Given the description of an element on the screen output the (x, y) to click on. 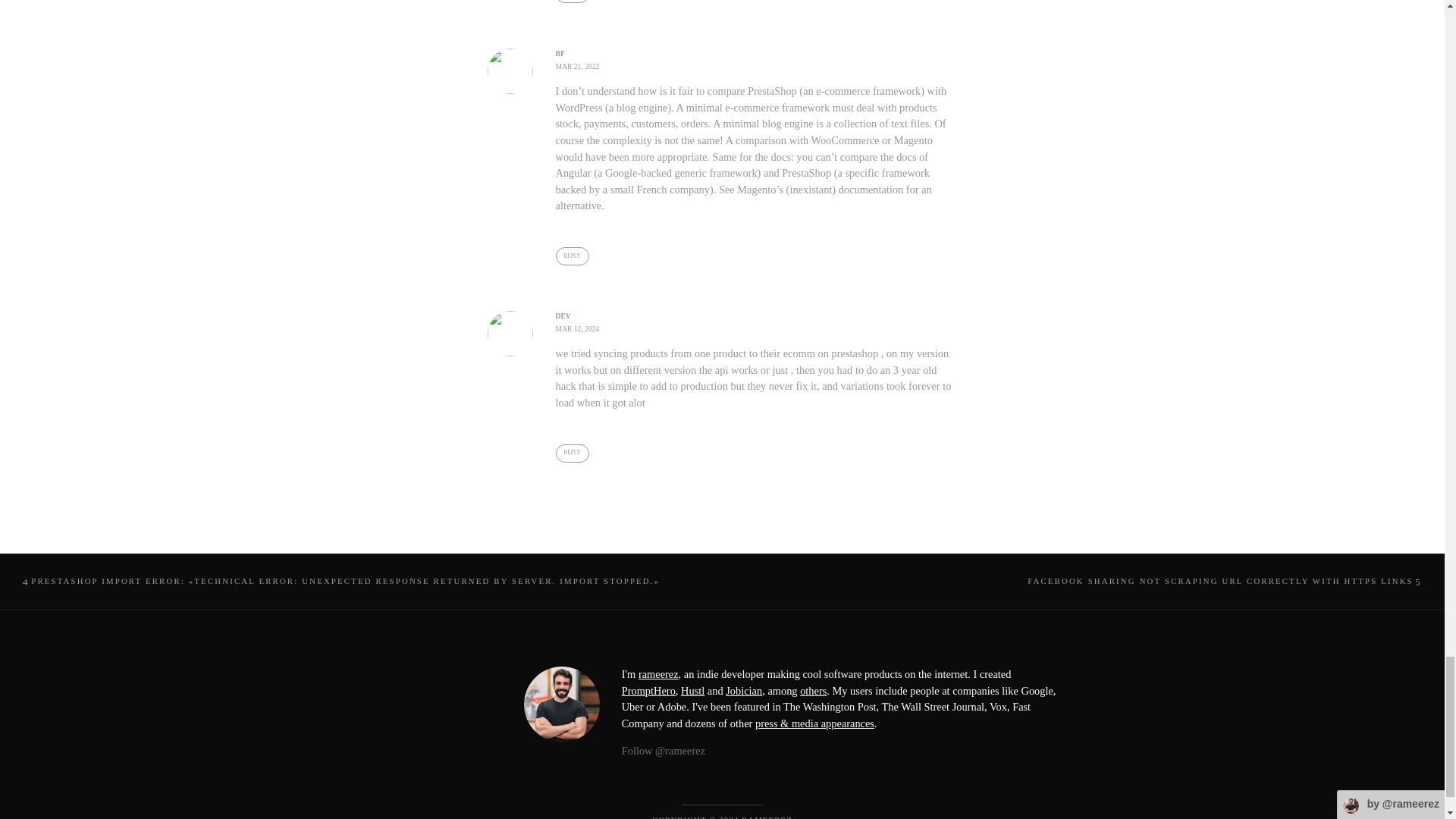
Jobician (743, 690)
REPLY (571, 256)
PromptHero (648, 690)
REPLY (571, 453)
rameerez (658, 674)
REPLY (571, 1)
FACEBOOK SHARING NOT SCRAPING URL CORRECTLY WITH HTTPS LINKS (1224, 580)
Hustl (692, 690)
